Given the description of an element on the screen output the (x, y) to click on. 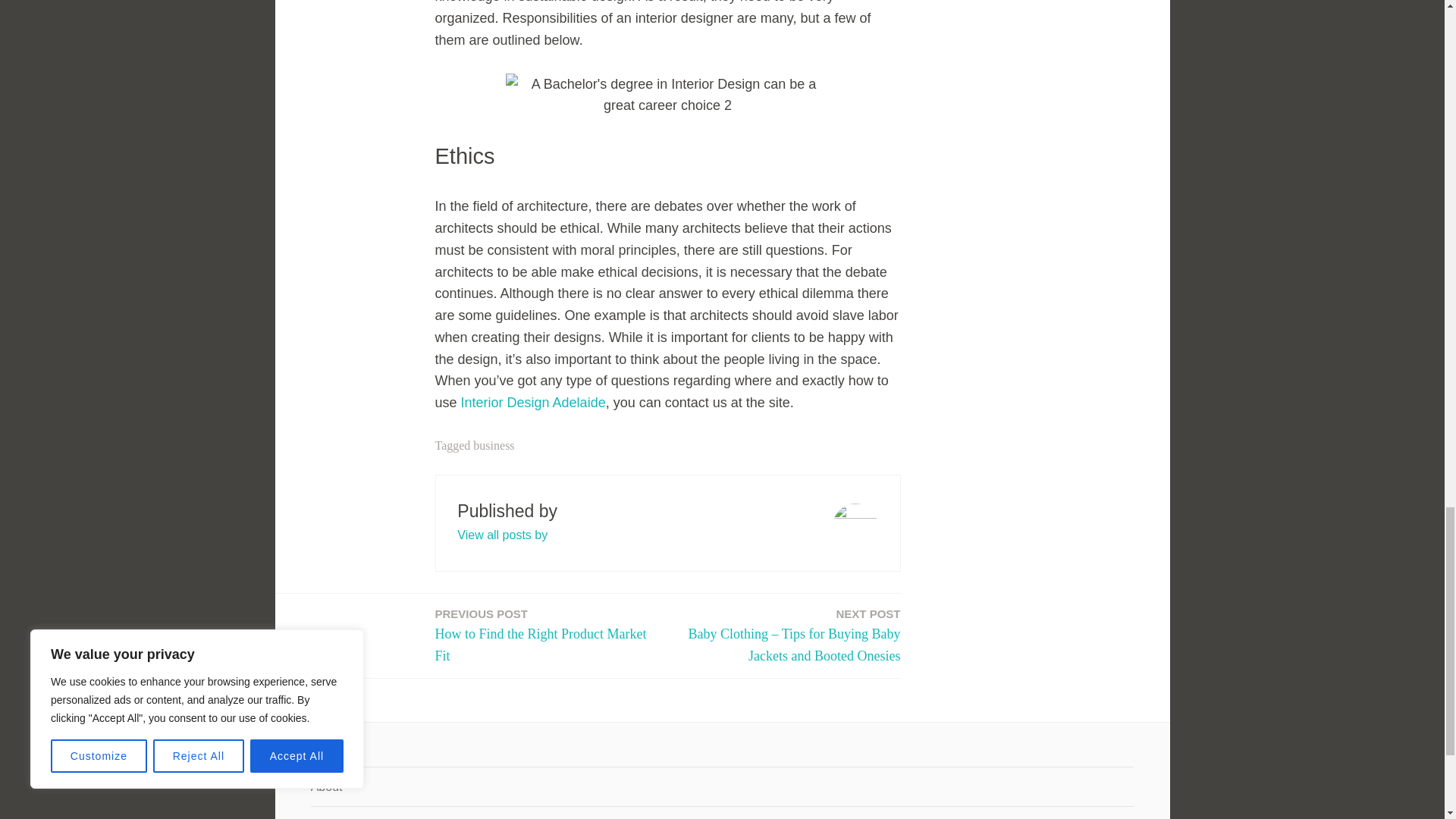
business (493, 445)
Interior Design Adelaide (533, 402)
View all posts by (502, 534)
